Given the description of an element on the screen output the (x, y) to click on. 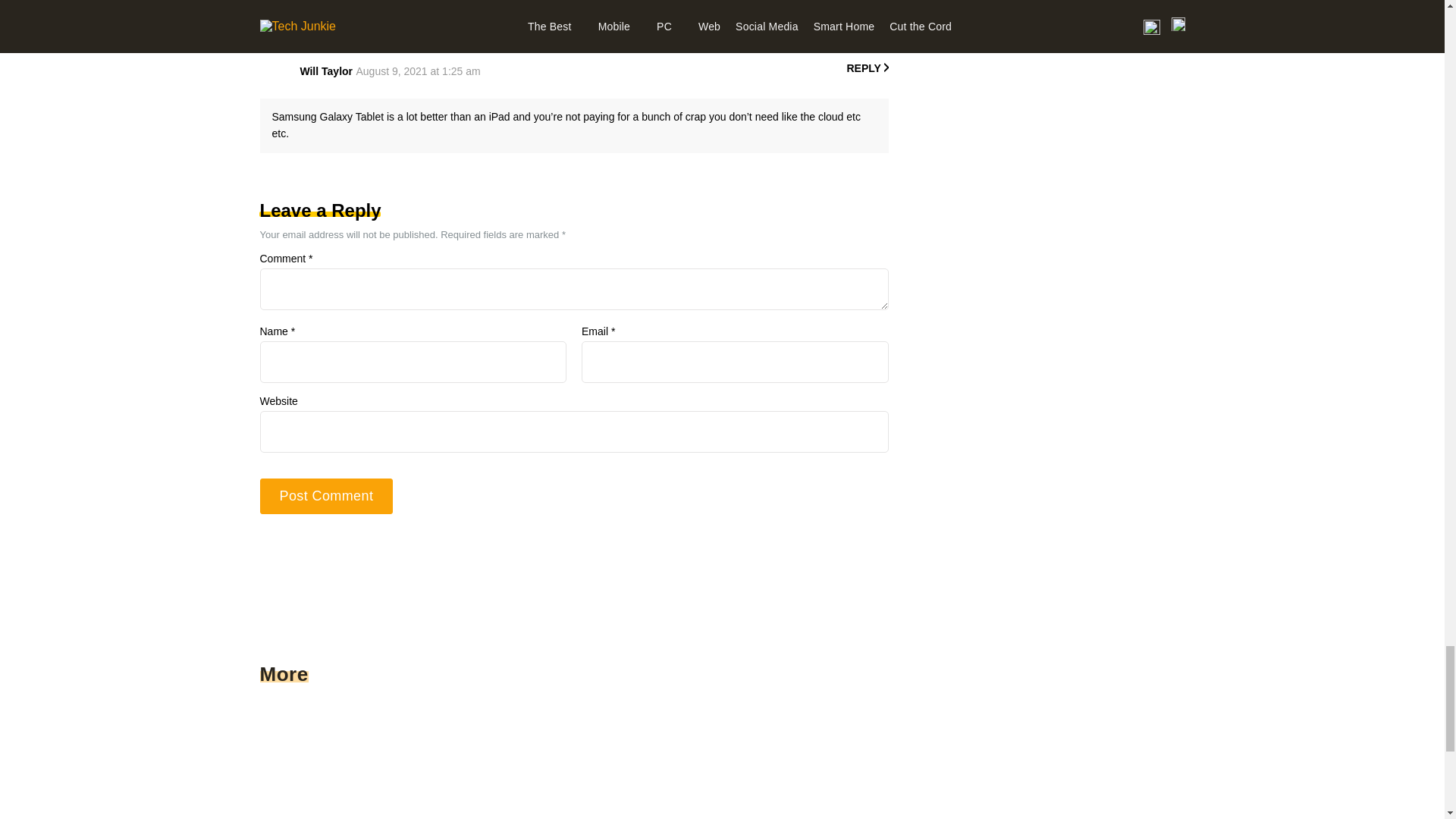
Post Comment (326, 496)
